Given the description of an element on the screen output the (x, y) to click on. 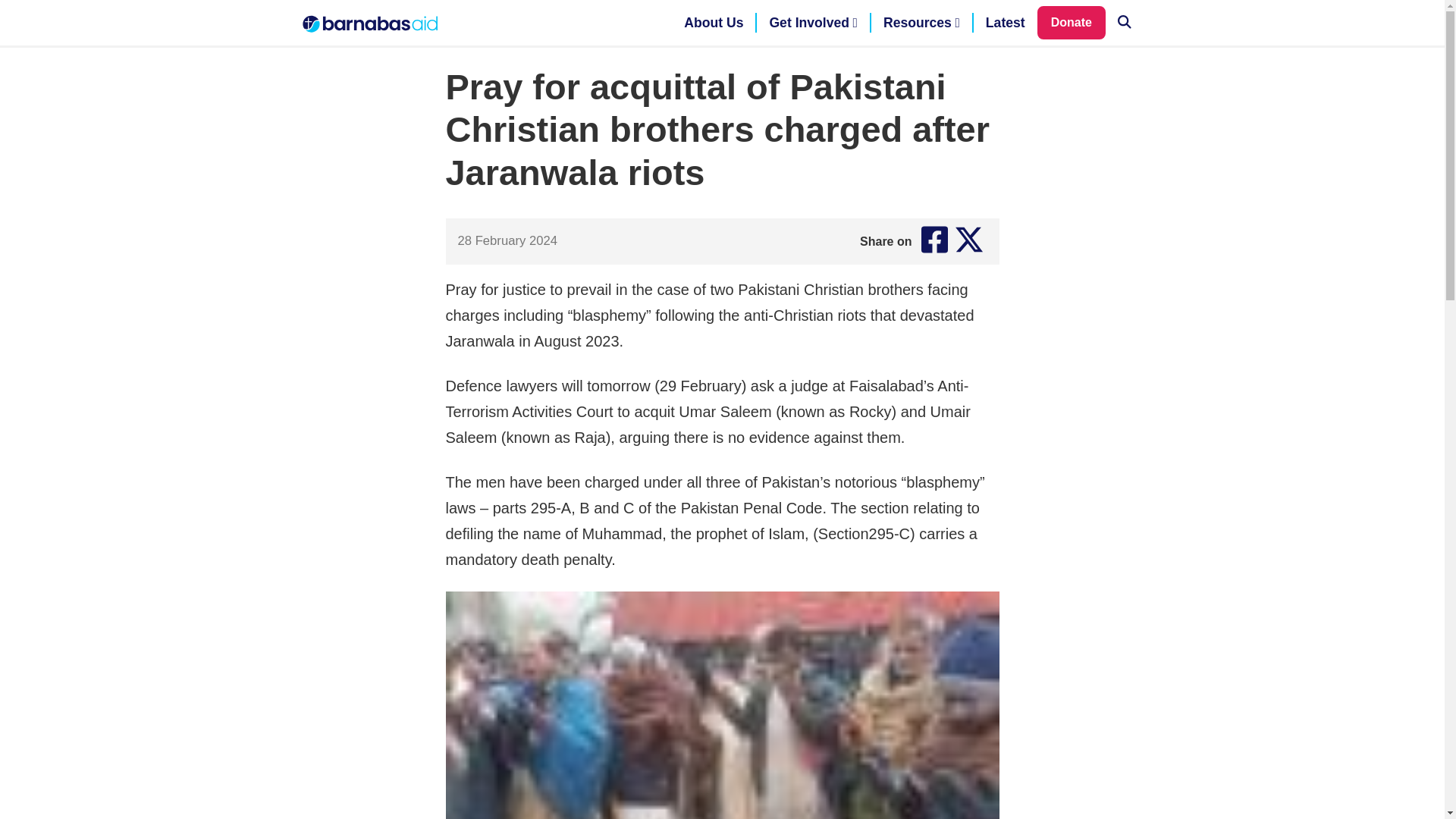
Search (1123, 22)
Donate (1070, 22)
Get Involved (813, 22)
About Us (713, 22)
Resources (921, 22)
Share this on Facebook (933, 241)
Latest (1005, 22)
